Given the description of an element on the screen output the (x, y) to click on. 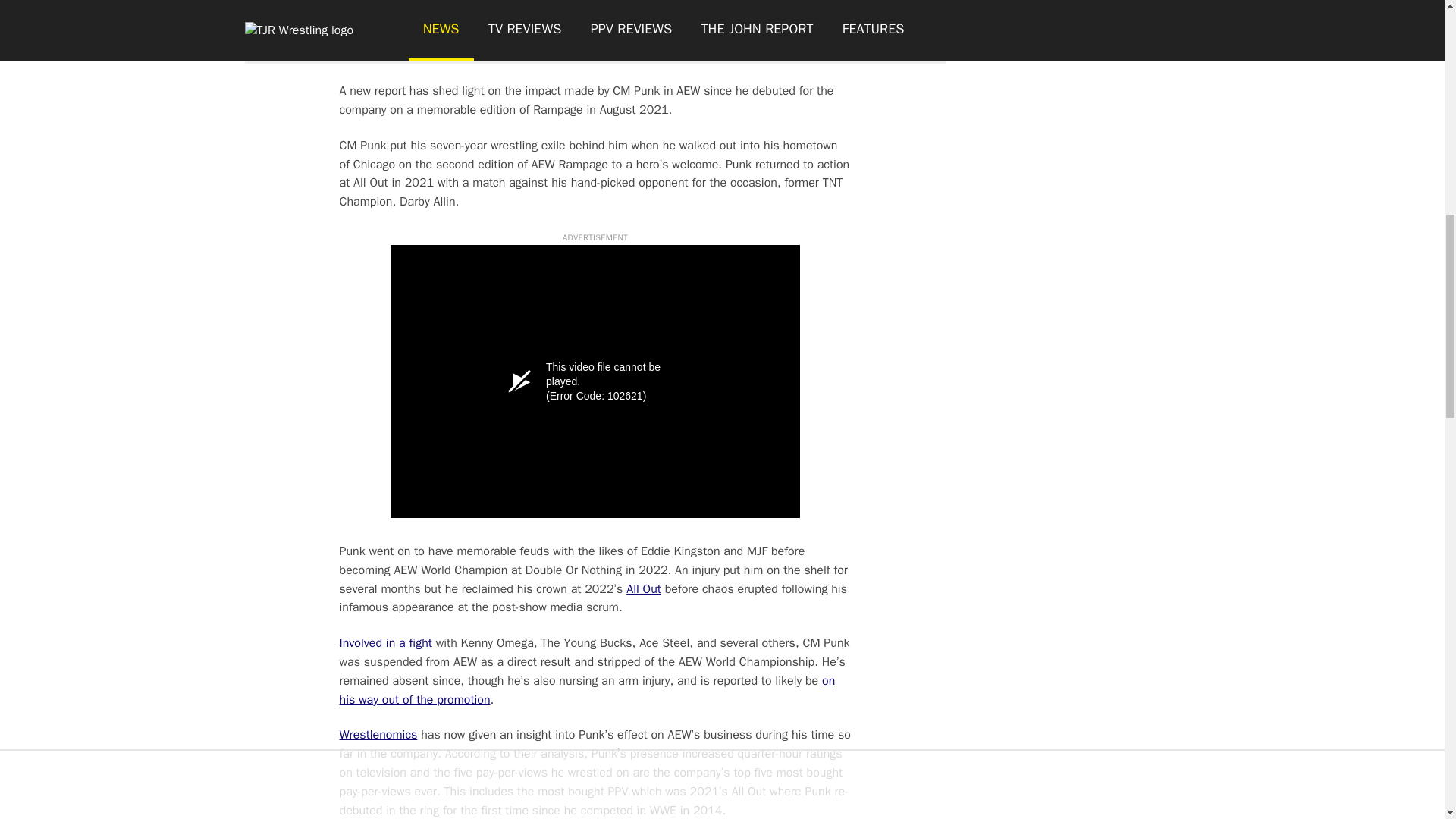
Involved in a fight (385, 642)
on his way out of the promotion (587, 690)
All Out (643, 589)
Wrestlenomics (378, 734)
